Given the description of an element on the screen output the (x, y) to click on. 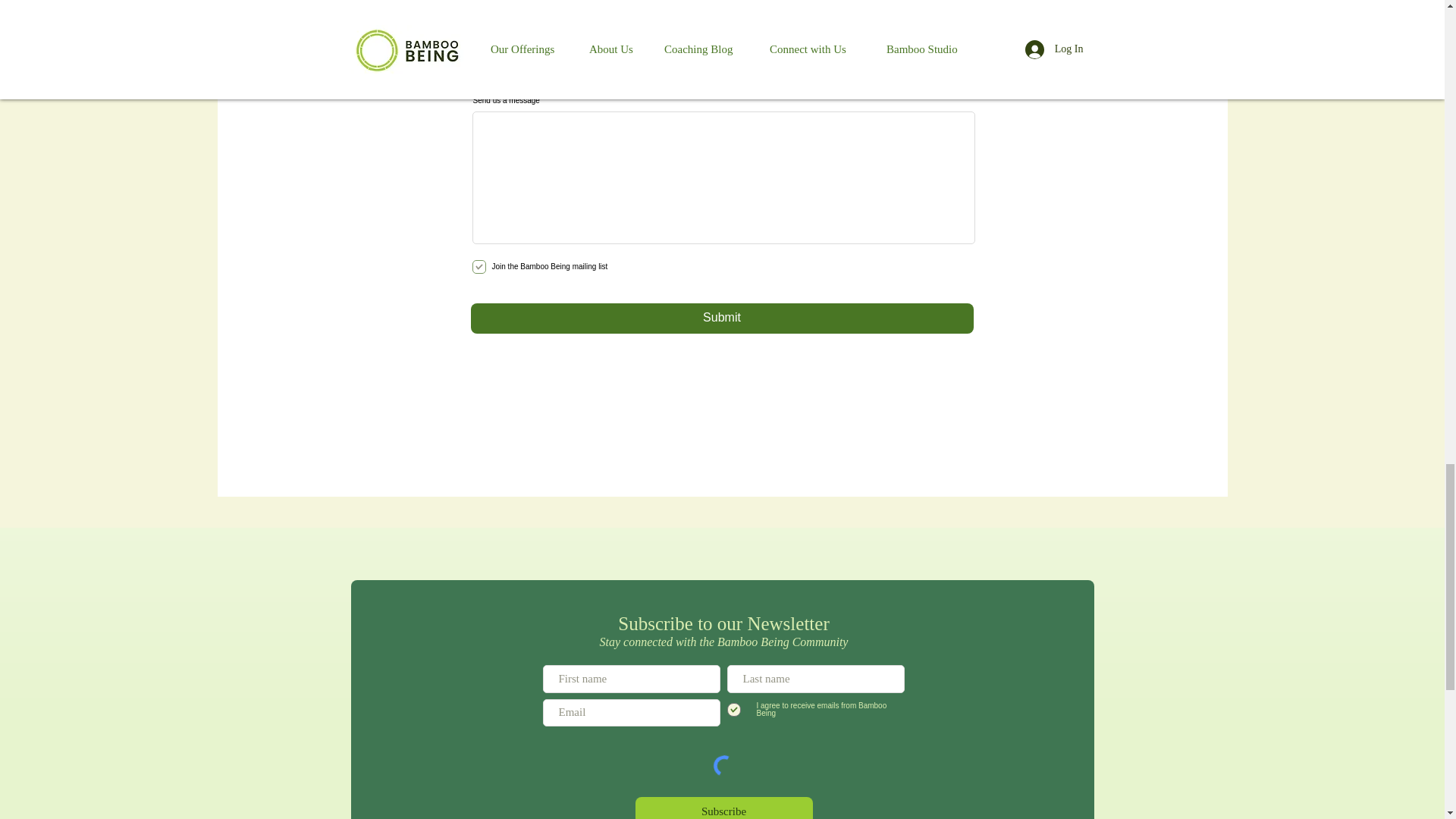
Submit (721, 318)
Subscribe (723, 807)
